Given the description of an element on the screen output the (x, y) to click on. 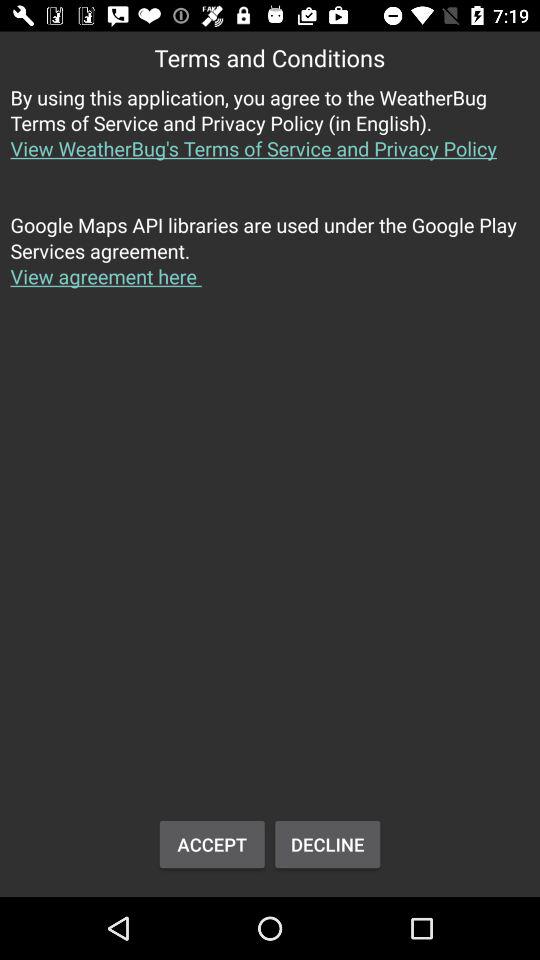
launch item below terms and conditions (269, 134)
